Given the description of an element on the screen output the (x, y) to click on. 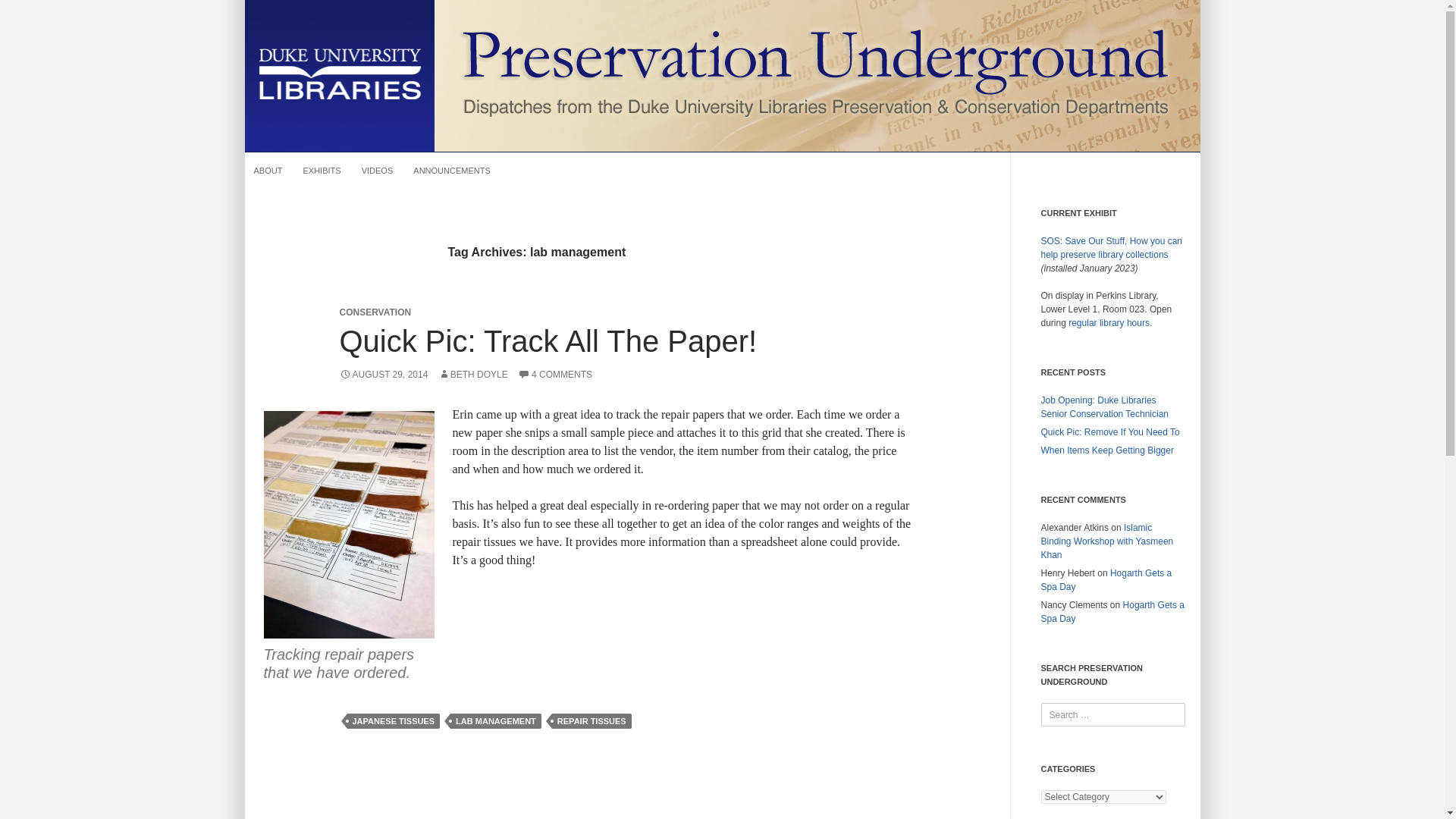
AUGUST 29, 2014 (383, 374)
REPAIR TISSUES (591, 720)
4 COMMENTS (555, 374)
EXHIBITS (321, 170)
ANNOUNCEMENTS (451, 170)
Quick Pic: Track All The Paper! (548, 340)
ABOUT (267, 170)
BETH DOYLE (473, 374)
regular library hours (1109, 322)
Hogarth Gets a Spa Day (1106, 580)
When Items Keep Getting Bigger (1107, 450)
Quick Pic: Remove If You Need To (1110, 431)
LAB MANAGEMENT (495, 720)
